Given the description of an element on the screen output the (x, y) to click on. 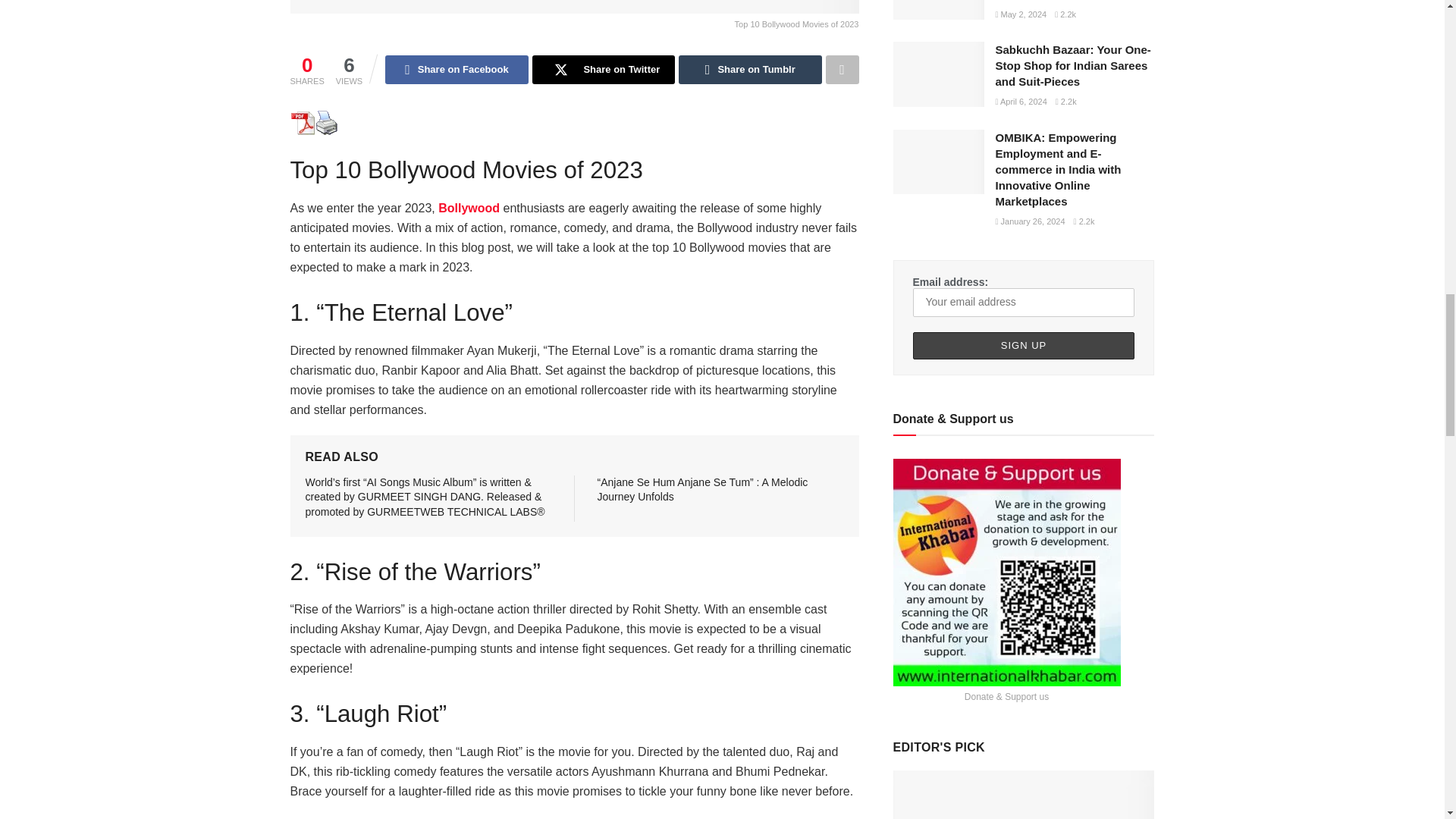
Print Content (325, 122)
View PDF (301, 122)
Sign up (1023, 346)
